Given the description of an element on the screen output the (x, y) to click on. 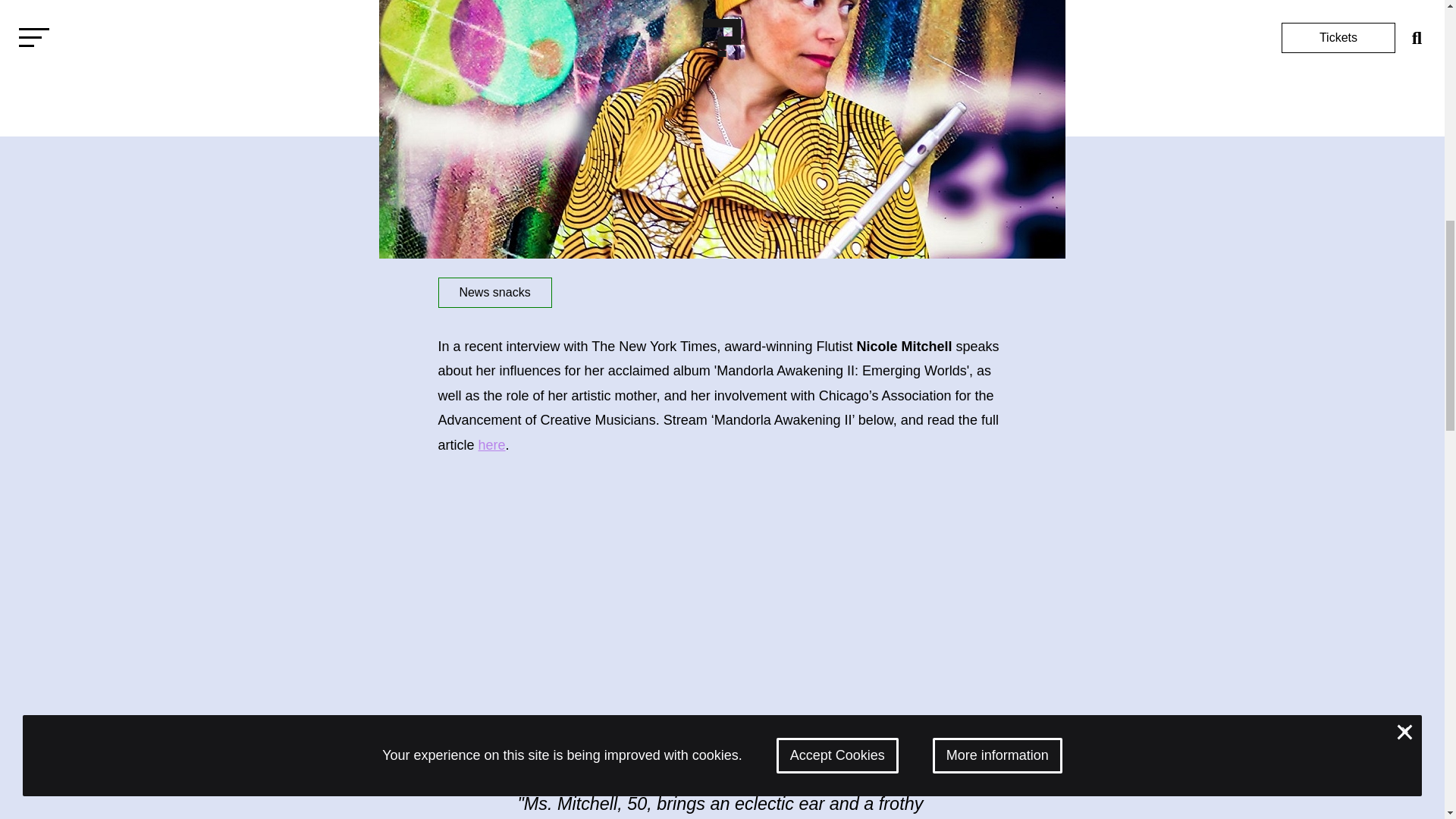
News snacks (494, 292)
here (492, 444)
